Given the description of an element on the screen output the (x, y) to click on. 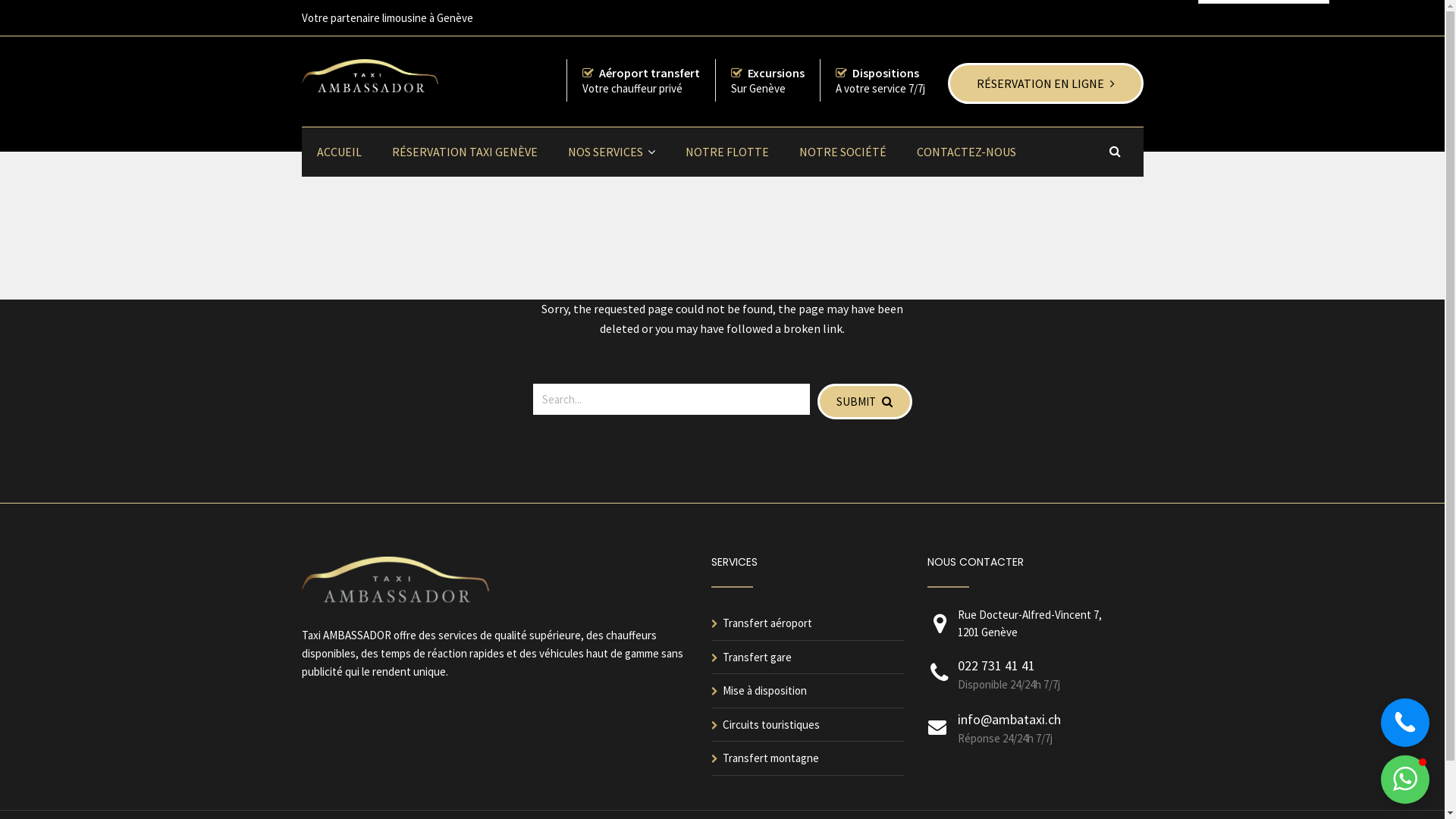
info@ambataxi.ch Element type: text (1008, 719)
CONTACTEZ-NOUS Element type: text (965, 151)
Transfert gare Element type: text (755, 656)
ACCUEIL Element type: text (338, 151)
NOS SERVICES Element type: text (610, 151)
Circuits touristiques Element type: text (770, 724)
022 731 41 41 Element type: text (995, 665)
NOTRE FLOTTE Element type: text (727, 151)
SUBMIT Element type: text (864, 401)
